Given the description of an element on the screen output the (x, y) to click on. 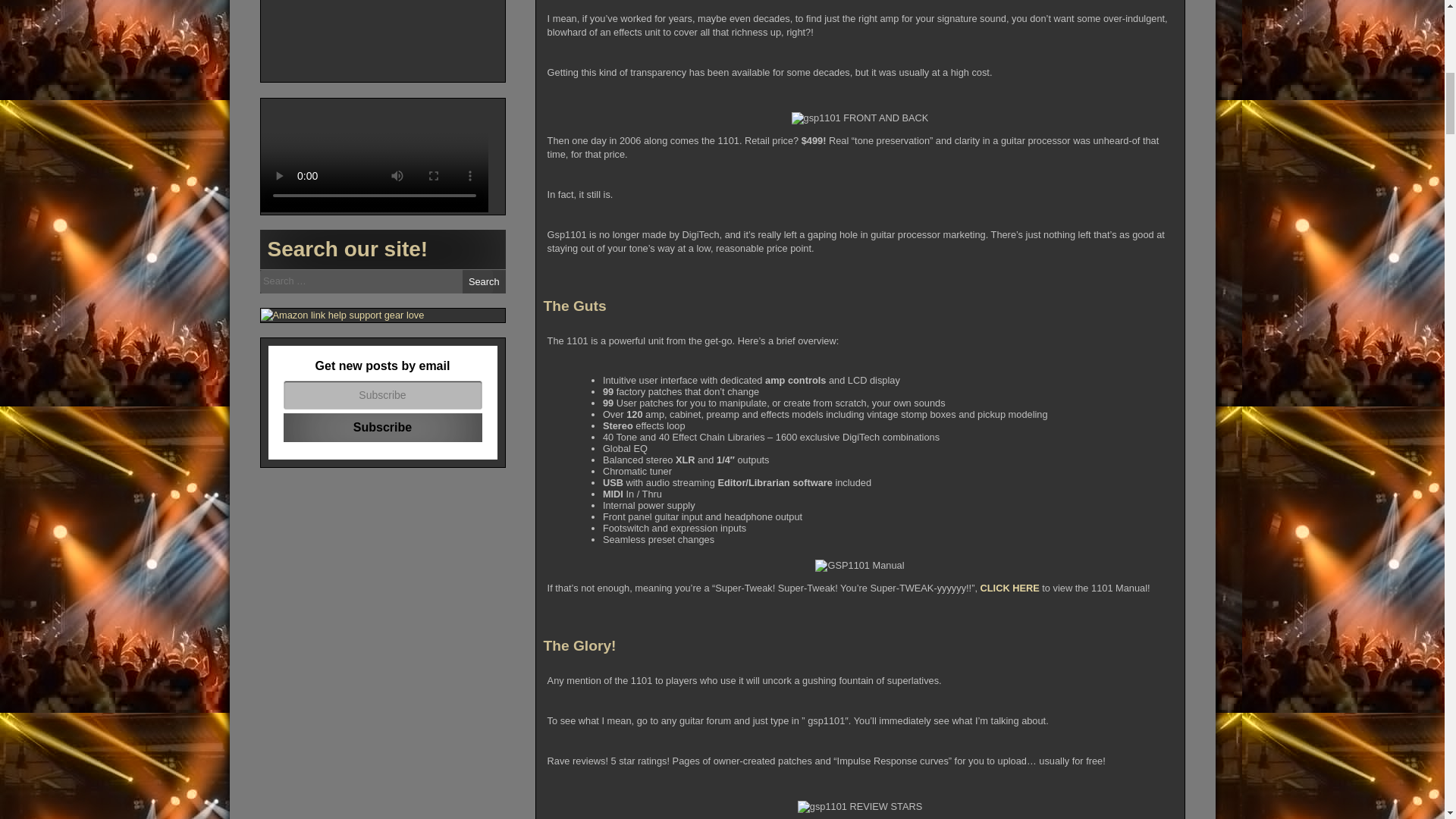
Search (484, 281)
Subscribe (382, 427)
Search (484, 281)
CLICK HERE (1009, 587)
